Given the description of an element on the screen output the (x, y) to click on. 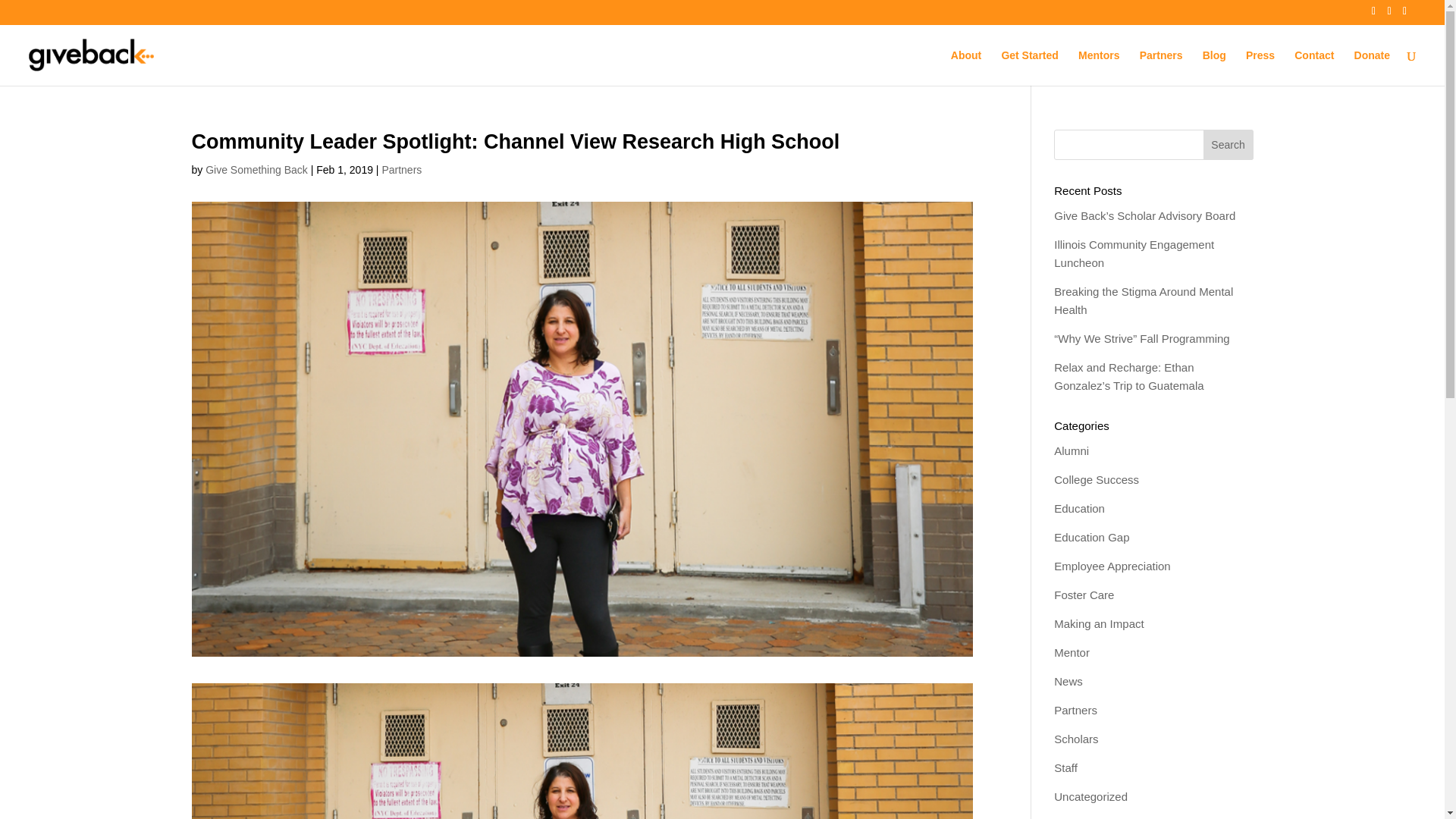
Posts by Give Something Back (256, 169)
Staff (1065, 767)
Give Something Back (256, 169)
Partners (1075, 709)
Alumni (1071, 450)
Illinois Community Engagement Luncheon (1134, 253)
Employee Appreciation (1112, 565)
Education Gap (1091, 536)
Uncategorized (1090, 796)
Donate (1372, 67)
